Given the description of an element on the screen output the (x, y) to click on. 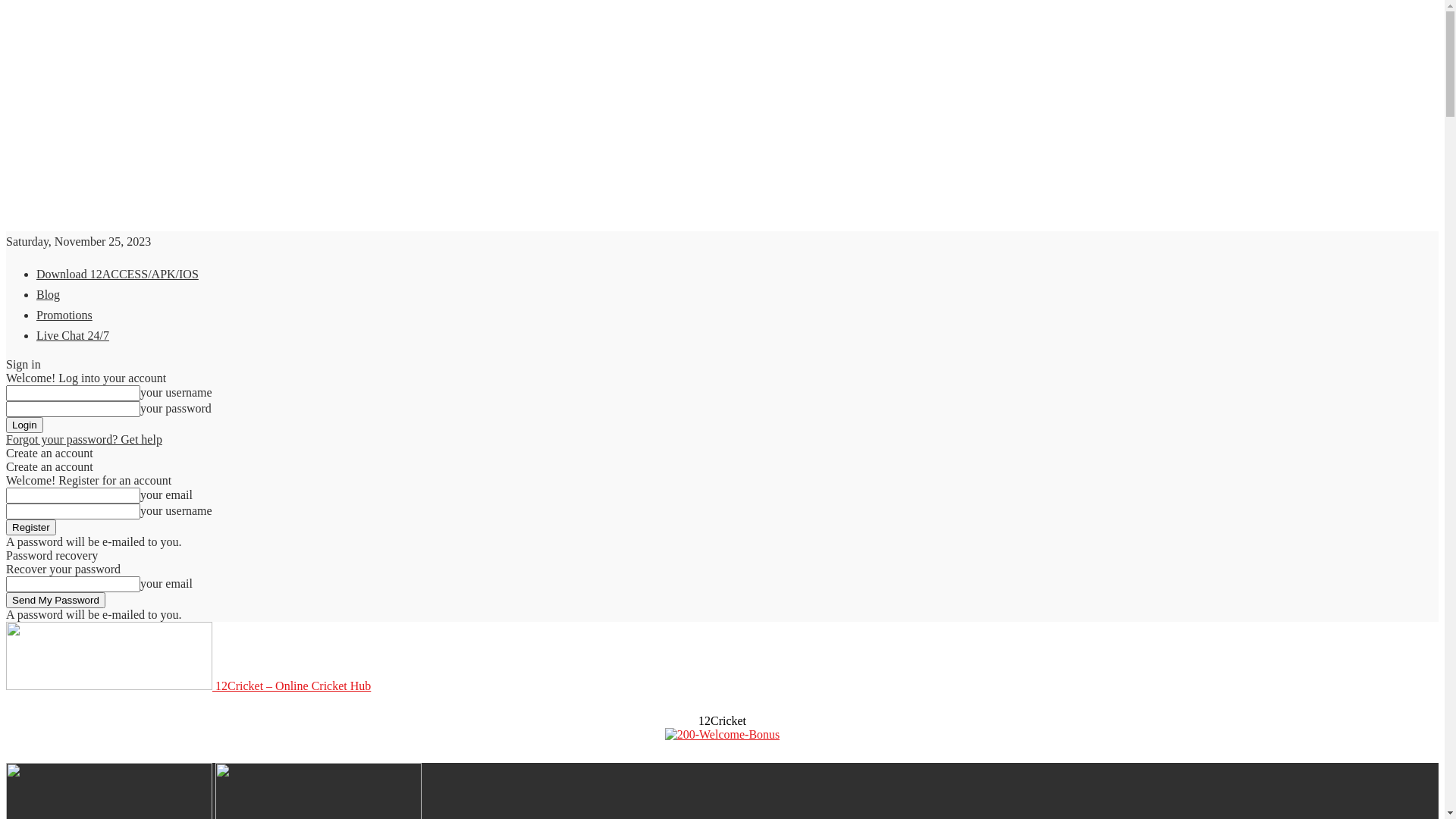
Live Chat 24/7 Element type: text (72, 335)
Create an account Element type: text (49, 452)
Blog Element type: text (47, 294)
Download 12ACCESS/APK/IOS Element type: text (117, 273)
Promotions Element type: text (64, 314)
Forgot your password? Get help Element type: text (84, 439)
